Given the description of an element on the screen output the (x, y) to click on. 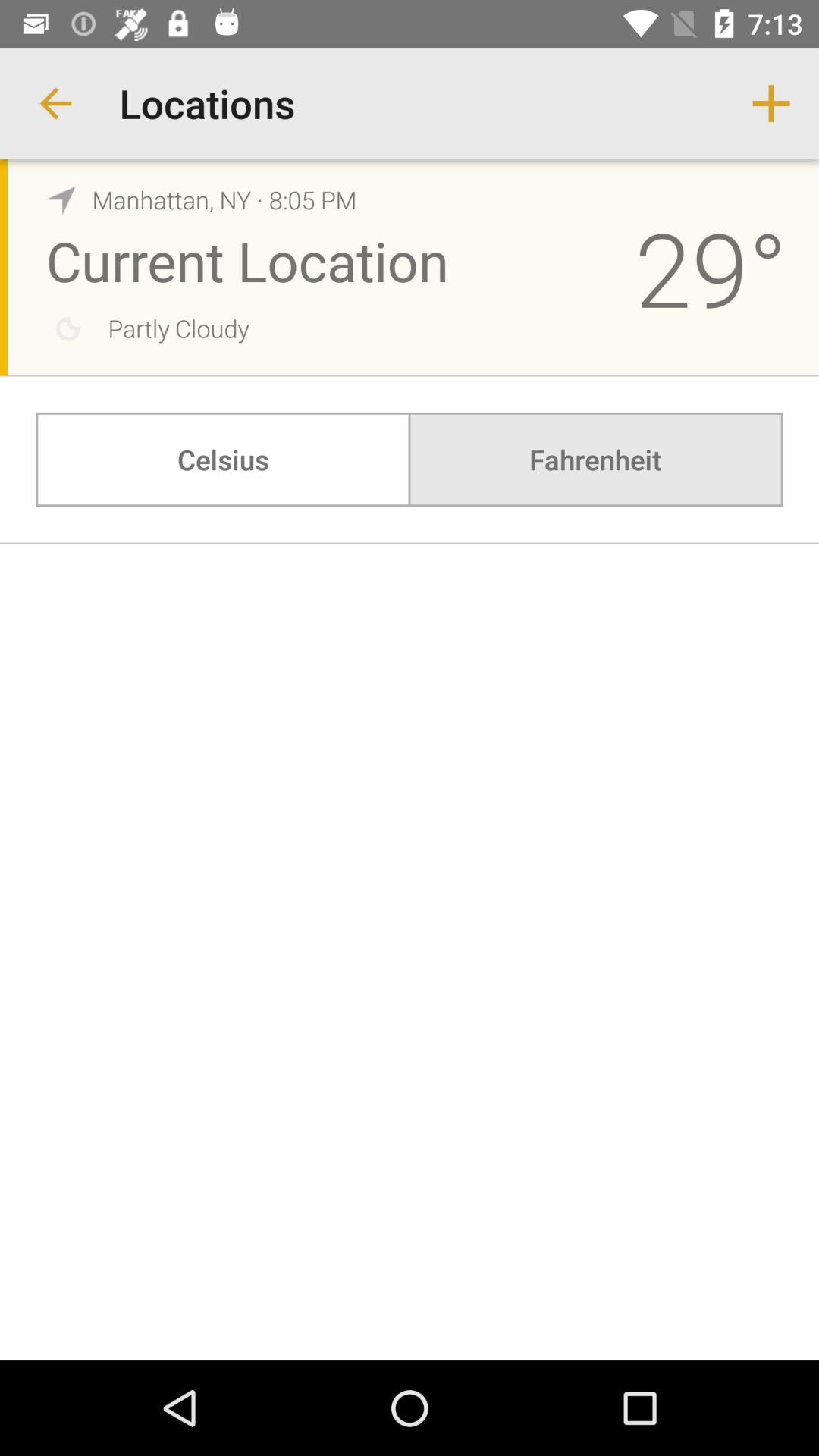
swipe to the fahrenheit item (595, 459)
